Given the description of an element on the screen output the (x, y) to click on. 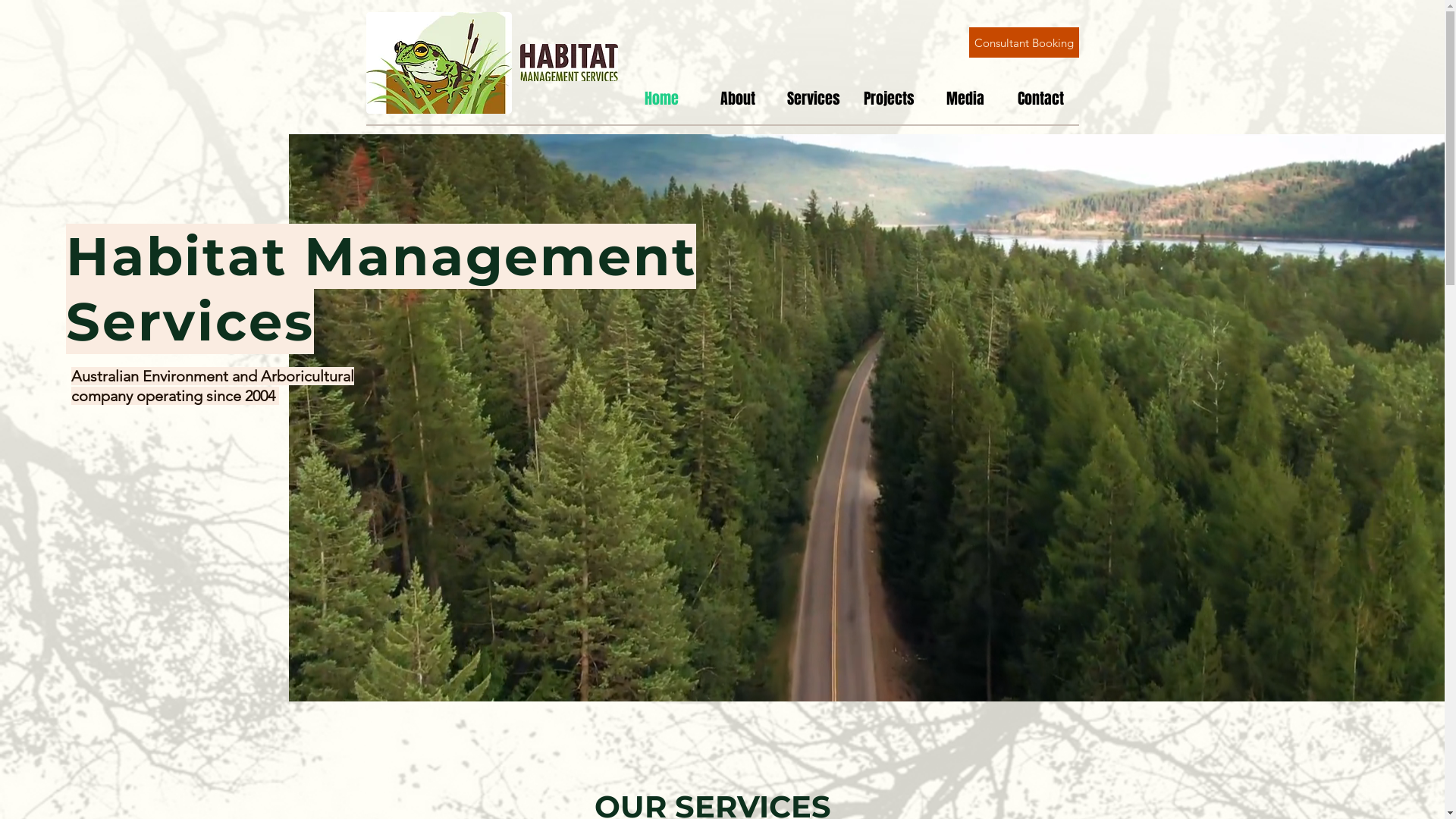
About Element type: text (737, 98)
Home Element type: text (661, 98)
Consultant Booking Element type: text (1024, 42)
Media Element type: text (964, 98)
Services Element type: text (812, 98)
Contact Element type: text (1040, 98)
Projects Element type: text (888, 98)
